Given the description of an element on the screen output the (x, y) to click on. 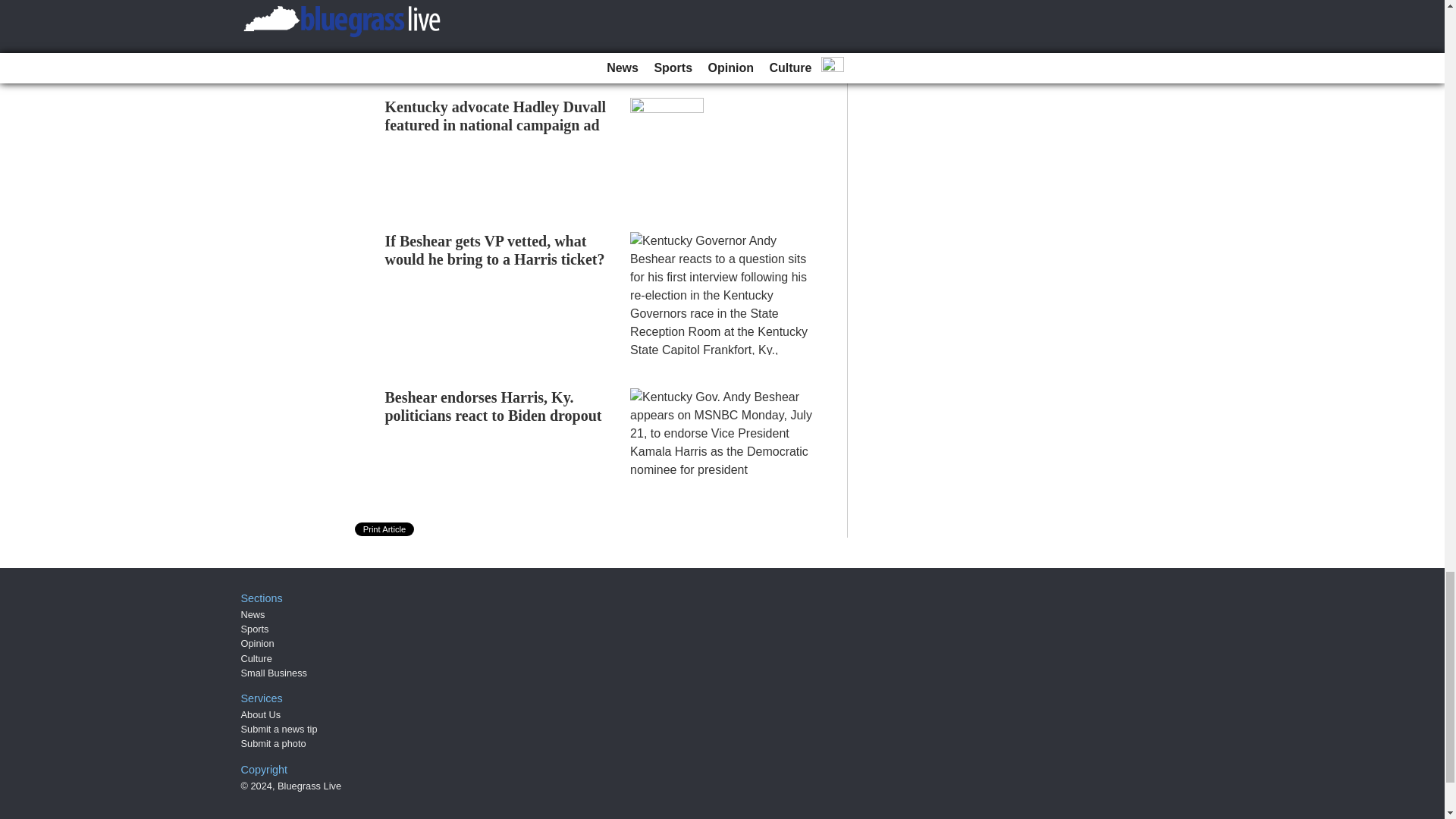
Sports (255, 628)
Submit a photo (273, 743)
News (252, 614)
Print Article (384, 529)
Small Business (274, 672)
About Us (261, 714)
Submit a news tip (279, 728)
